Given the description of an element on the screen output the (x, y) to click on. 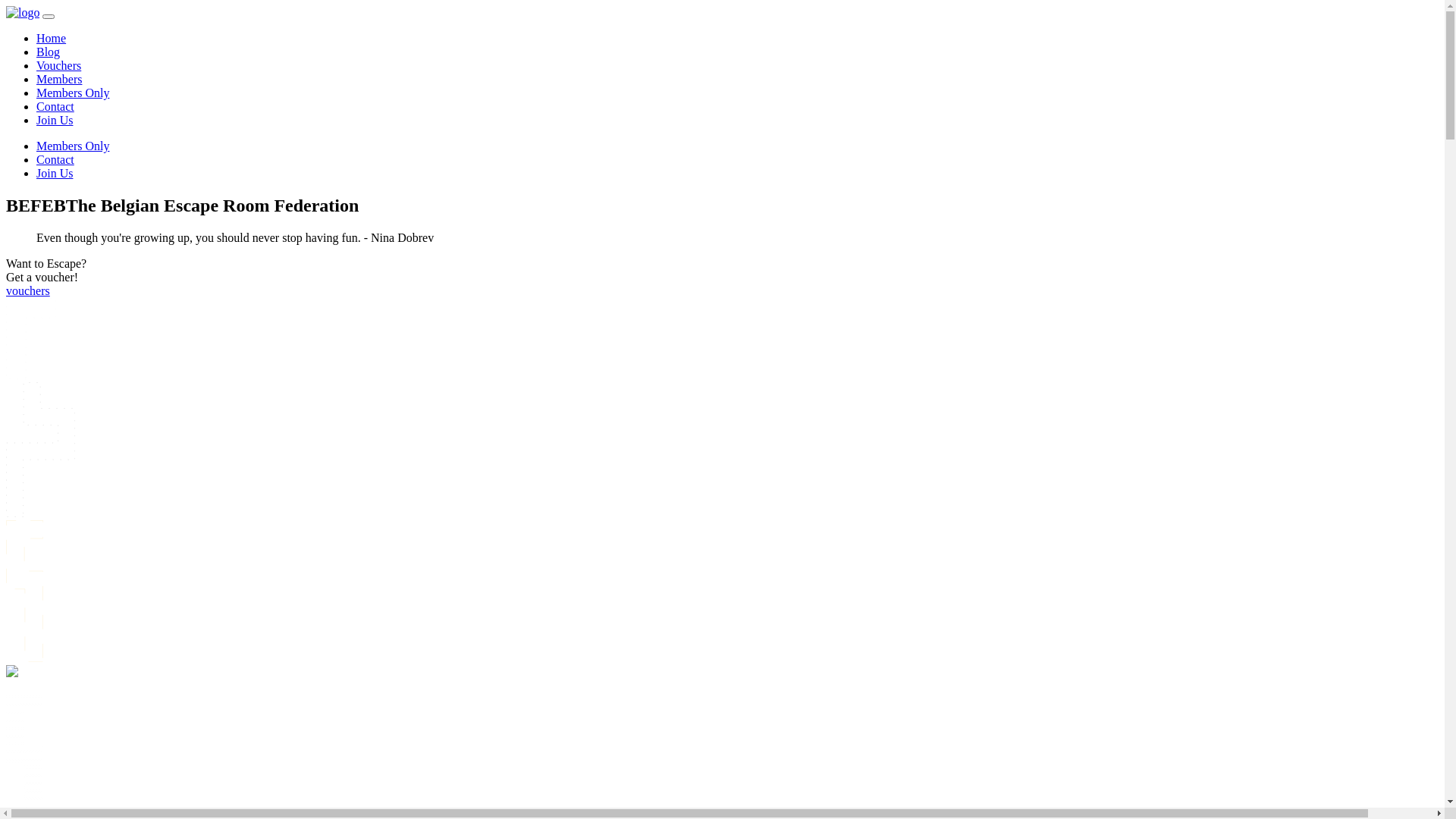
Blog Element type: text (47, 51)
Members Only Element type: text (72, 145)
Contact Element type: text (55, 106)
Members Element type: text (58, 78)
Members Only Element type: text (72, 92)
Vouchers Element type: text (58, 65)
vouchers Element type: text (28, 290)
Home Element type: text (50, 37)
Join Us Element type: text (54, 119)
Join Us Element type: text (54, 172)
Contact Element type: text (55, 159)
